Given the description of an element on the screen output the (x, y) to click on. 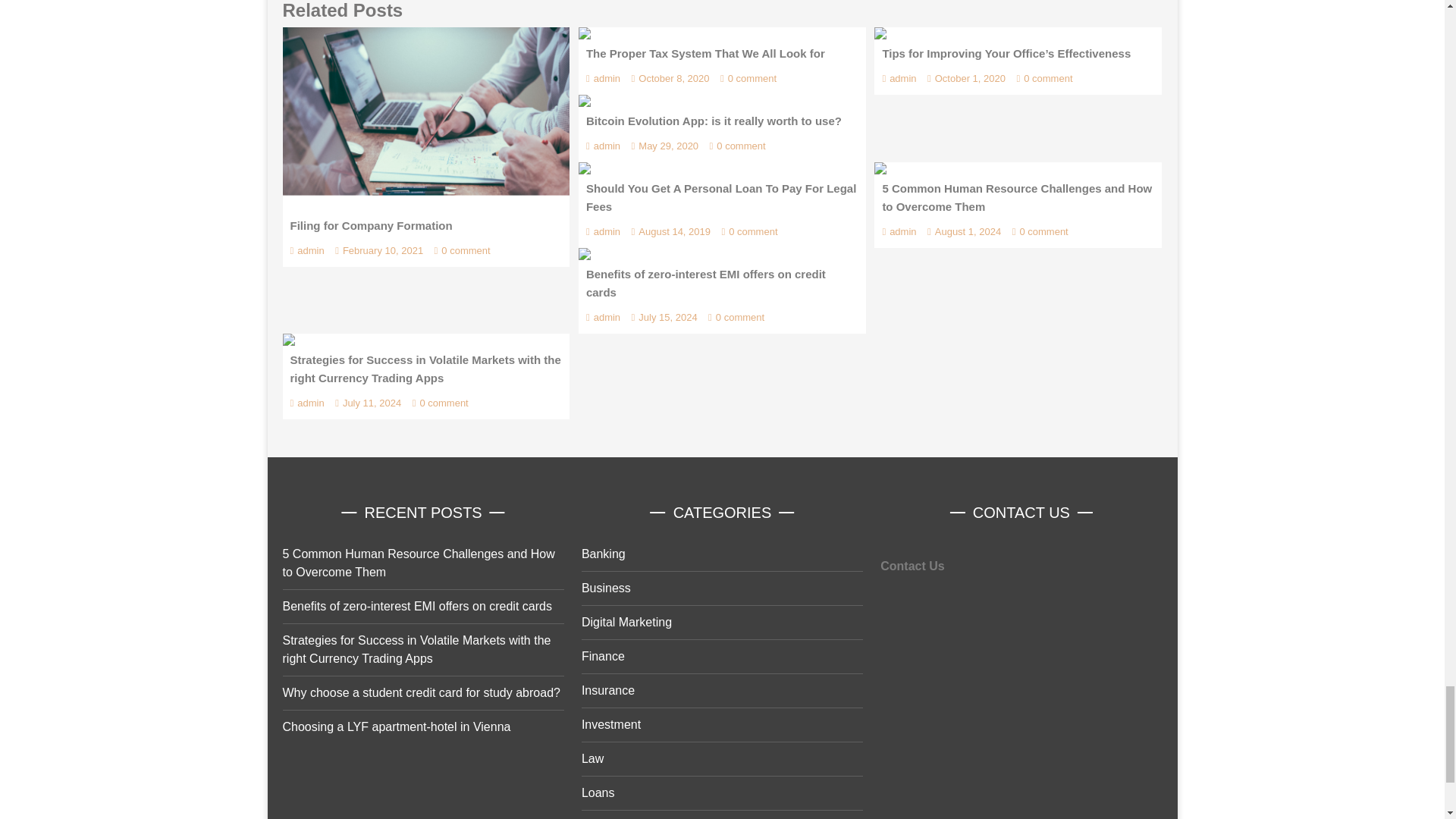
Should You Get A Personal Loan To Pay For Legal Fees (584, 168)
5 Common Human Resource Challenges and How to Overcome Them (880, 168)
Benefits of zero-interest EMI offers on credit cards (584, 254)
The Proper Tax System That We All Look for (584, 33)
Bitcoin Evolution App: is it really worth to use? (584, 101)
Filing for Company Formation (425, 119)
